Given the description of an element on the screen output the (x, y) to click on. 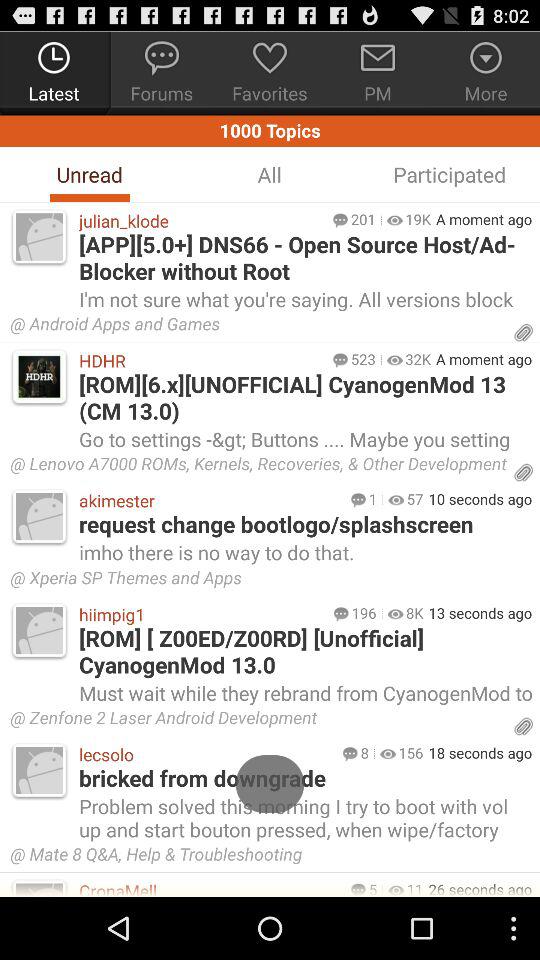
open app to the left of the 10 seconds ago icon (414, 498)
